Given the description of an element on the screen output the (x, y) to click on. 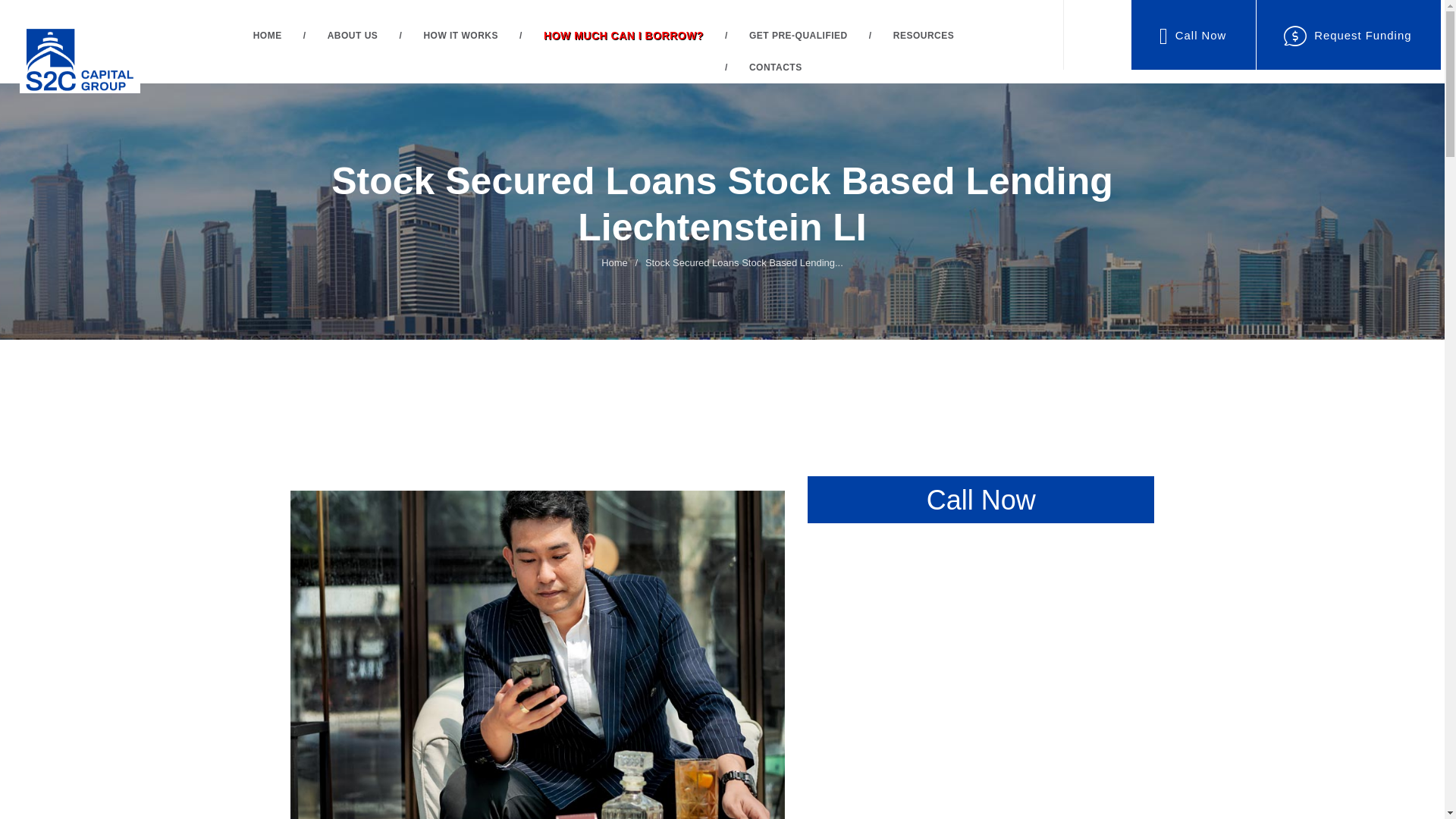
ABOUT US (352, 35)
HOME (267, 35)
Request Funding (1348, 34)
HOW IT WORKS (460, 35)
CONTACTS (775, 67)
HOW MUCH CAN I BORROW? (623, 35)
GET PRE-QUALIFIED (798, 35)
Call Now (981, 499)
Call Now (1193, 34)
Home (614, 262)
